Given the description of an element on the screen output the (x, y) to click on. 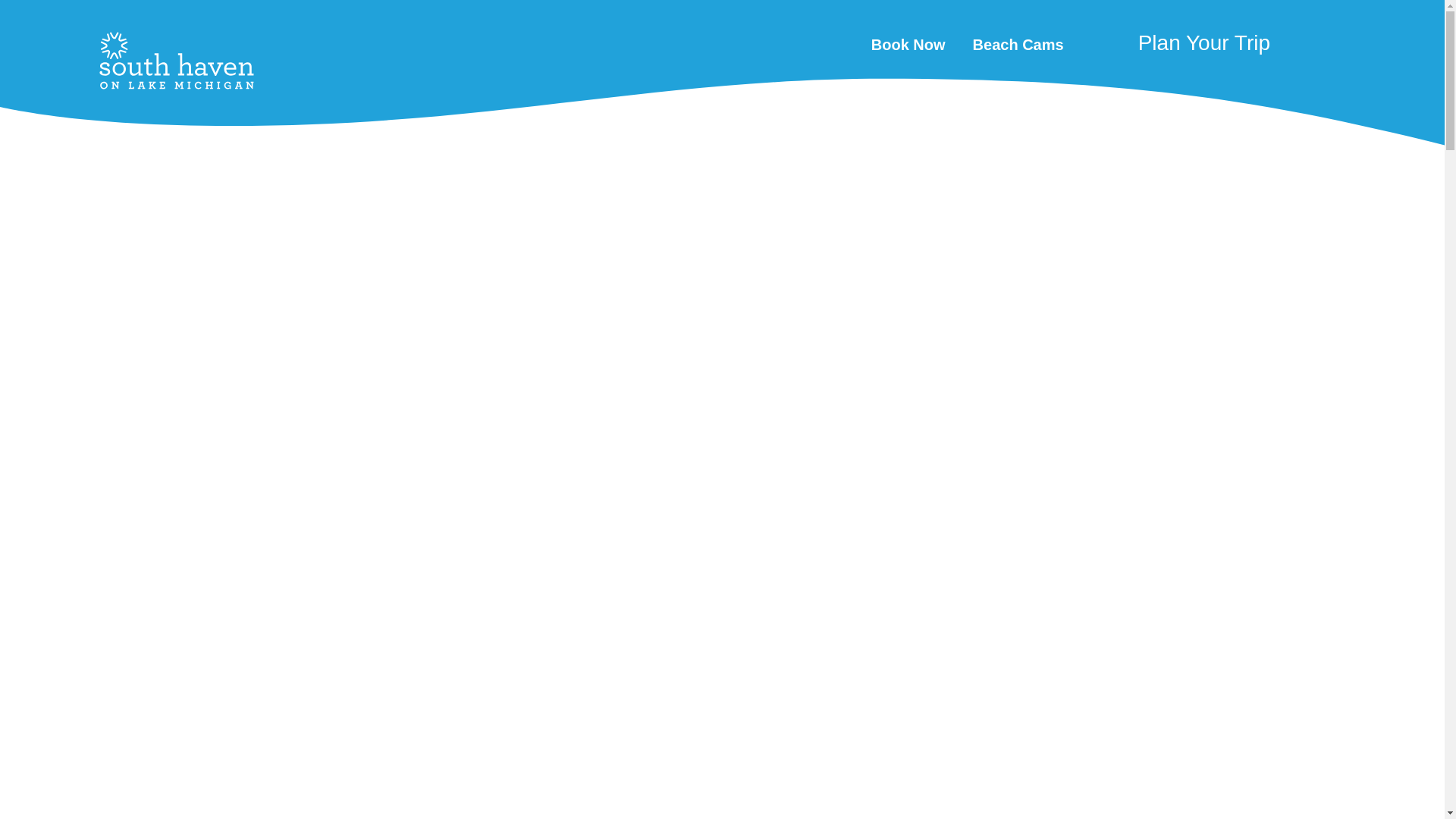
Beach Cams (1018, 44)
Plan Your Trip (1181, 50)
Book Now (907, 44)
Skip to content (17, 15)
